Given the description of an element on the screen output the (x, y) to click on. 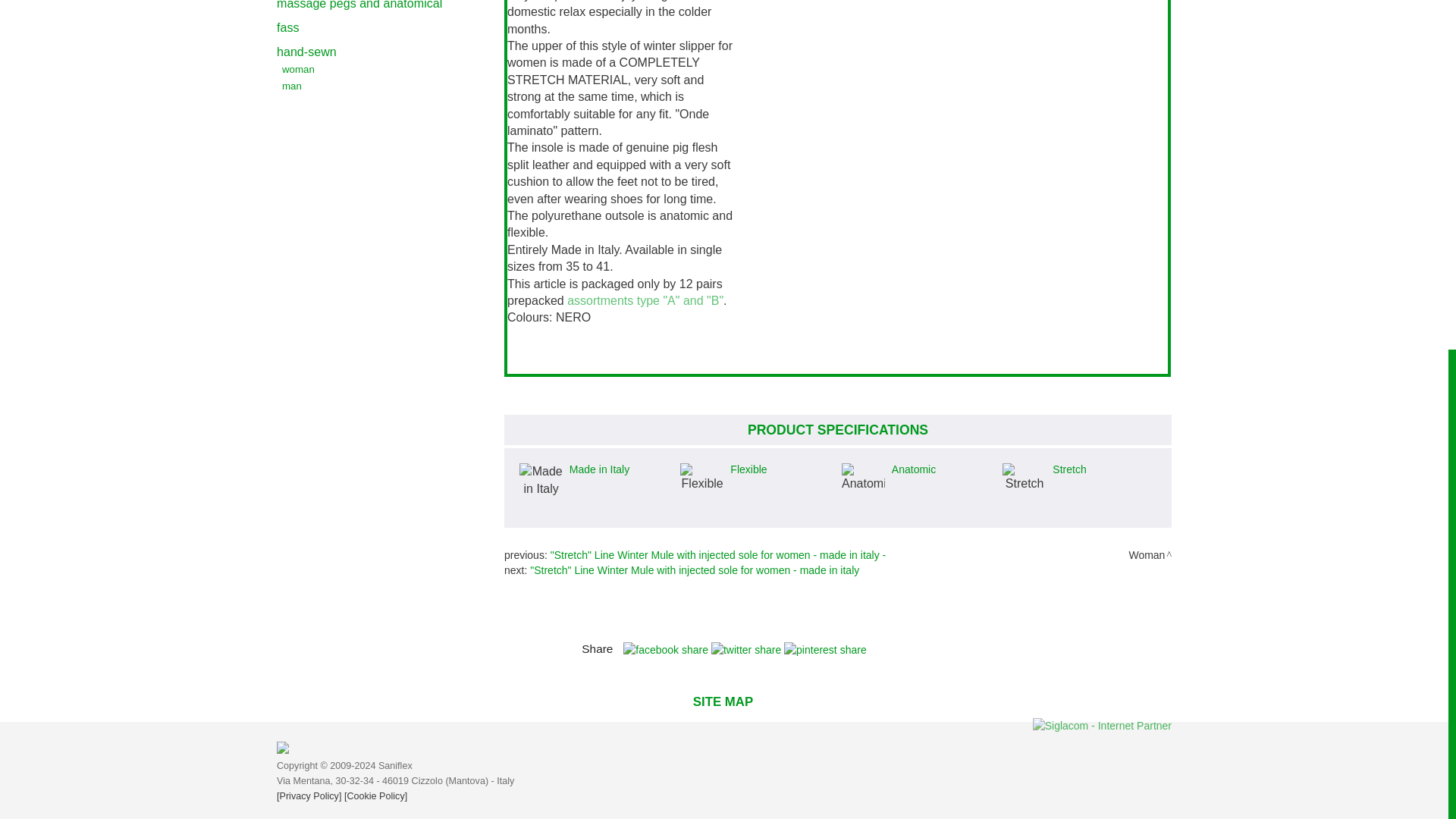
Share on Pinterest (825, 648)
Anatomic (863, 477)
Stretch (1024, 477)
Share on Facebook (667, 648)
Made in Italy (540, 480)
Flexible (701, 477)
Siglacom - Internet Partner (1102, 725)
Share on Twitter (747, 648)
